Given the description of an element on the screen output the (x, y) to click on. 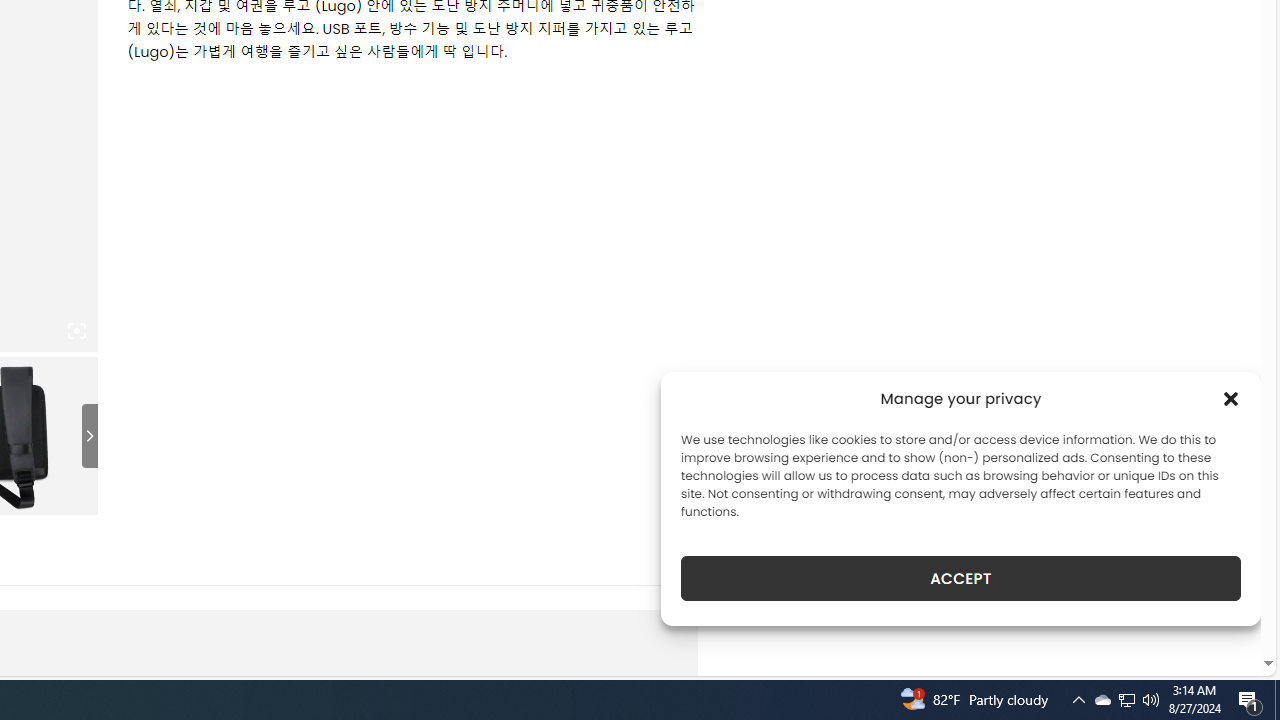
ACCEPT (960, 578)
Class: cmplz-close (1231, 398)
Class: iconic-woothumbs-fullscreen (75, 331)
